Given the description of an element on the screen output the (x, y) to click on. 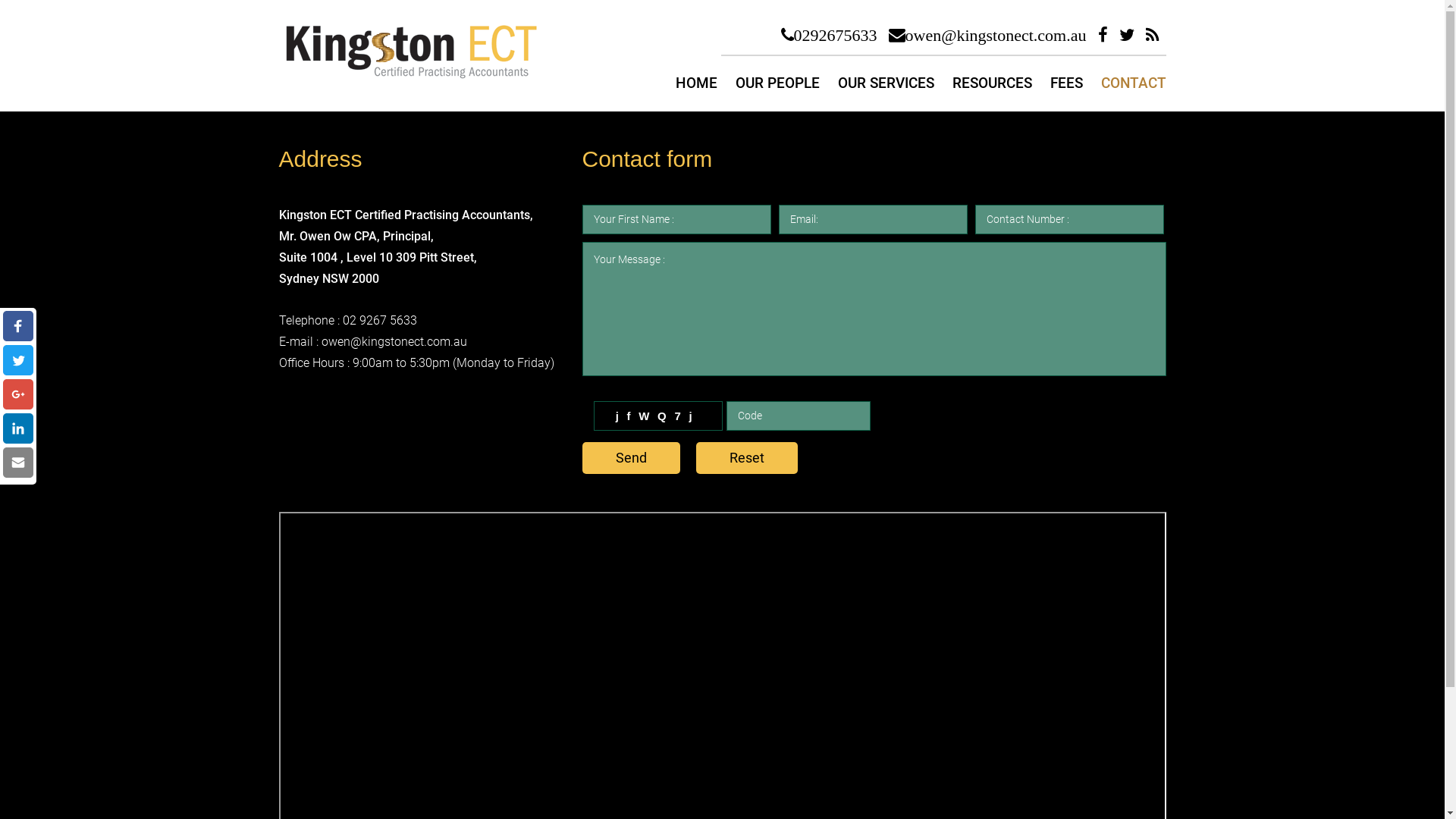
owen@kingstonect.com.au Element type: text (987, 34)
Reset Element type: text (746, 457)
  Element type: text (18, 462)
02 9267 5633 Element type: text (379, 320)
  Element type: text (18, 394)
  Element type: text (18, 428)
HOME Element type: text (695, 82)
OUR PEOPLE Element type: text (777, 82)
  Element type: text (18, 360)
CONTACT Element type: text (1133, 82)
owen@kingstonect.com.au Element type: text (394, 341)
OUR SERVICES Element type: text (885, 82)
0292675633 Element type: text (829, 34)
Send Element type: text (631, 457)
RESOURCES Element type: text (992, 82)
FEES Element type: text (1065, 82)
  Element type: text (18, 325)
